Given the description of an element on the screen output the (x, y) to click on. 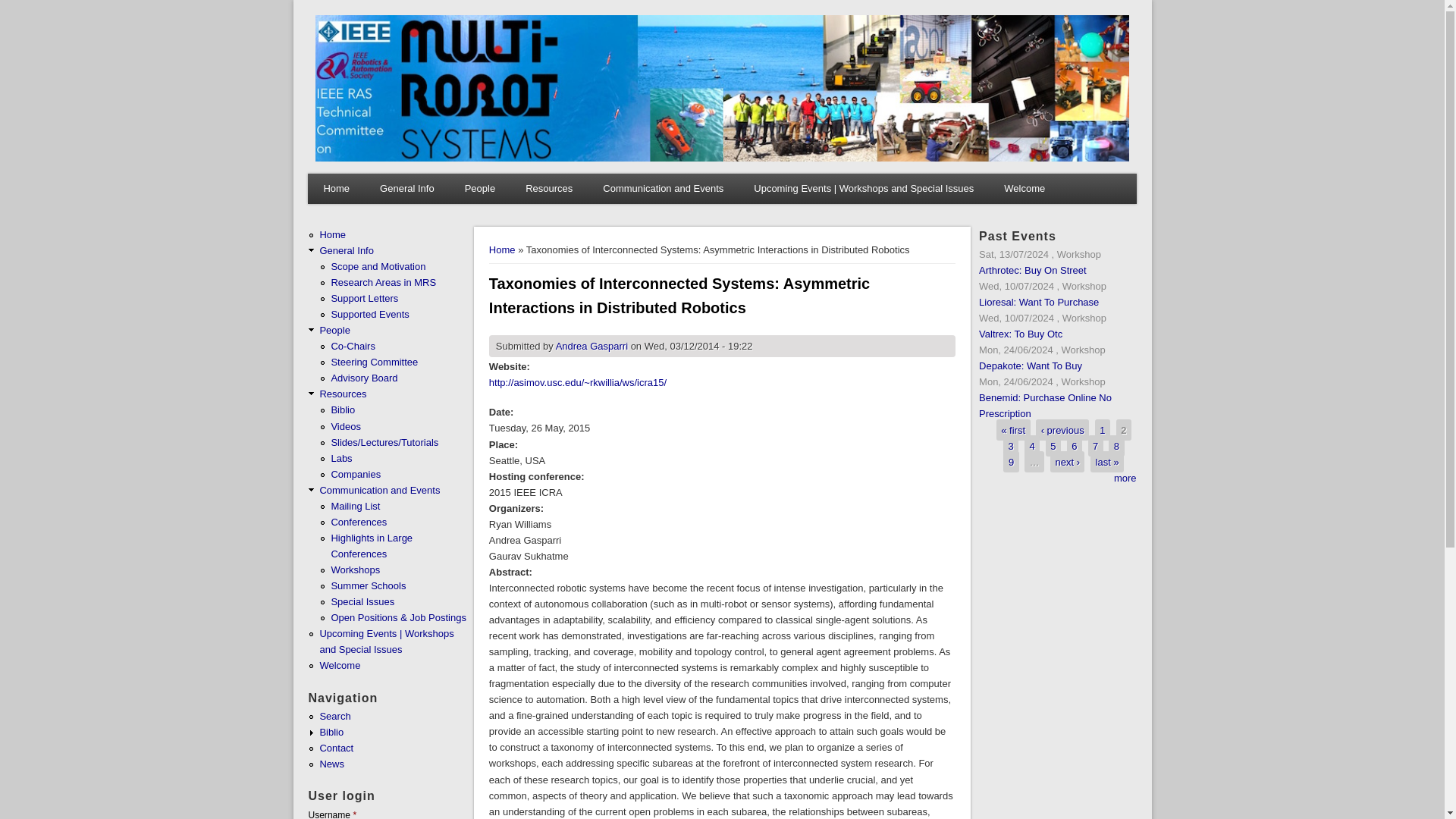
Resources (549, 188)
Andrea Gasparri (591, 346)
General Info (346, 250)
General Info (407, 188)
Research Areas in MRS (382, 282)
People (480, 188)
Home (502, 249)
Home (721, 157)
Steering Committee (373, 361)
Welcome (1023, 188)
Communication and Events (663, 188)
Supported Events (369, 314)
Home (332, 234)
Scope and Motivation (377, 266)
Co-Chairs (352, 346)
